Given the description of an element on the screen output the (x, y) to click on. 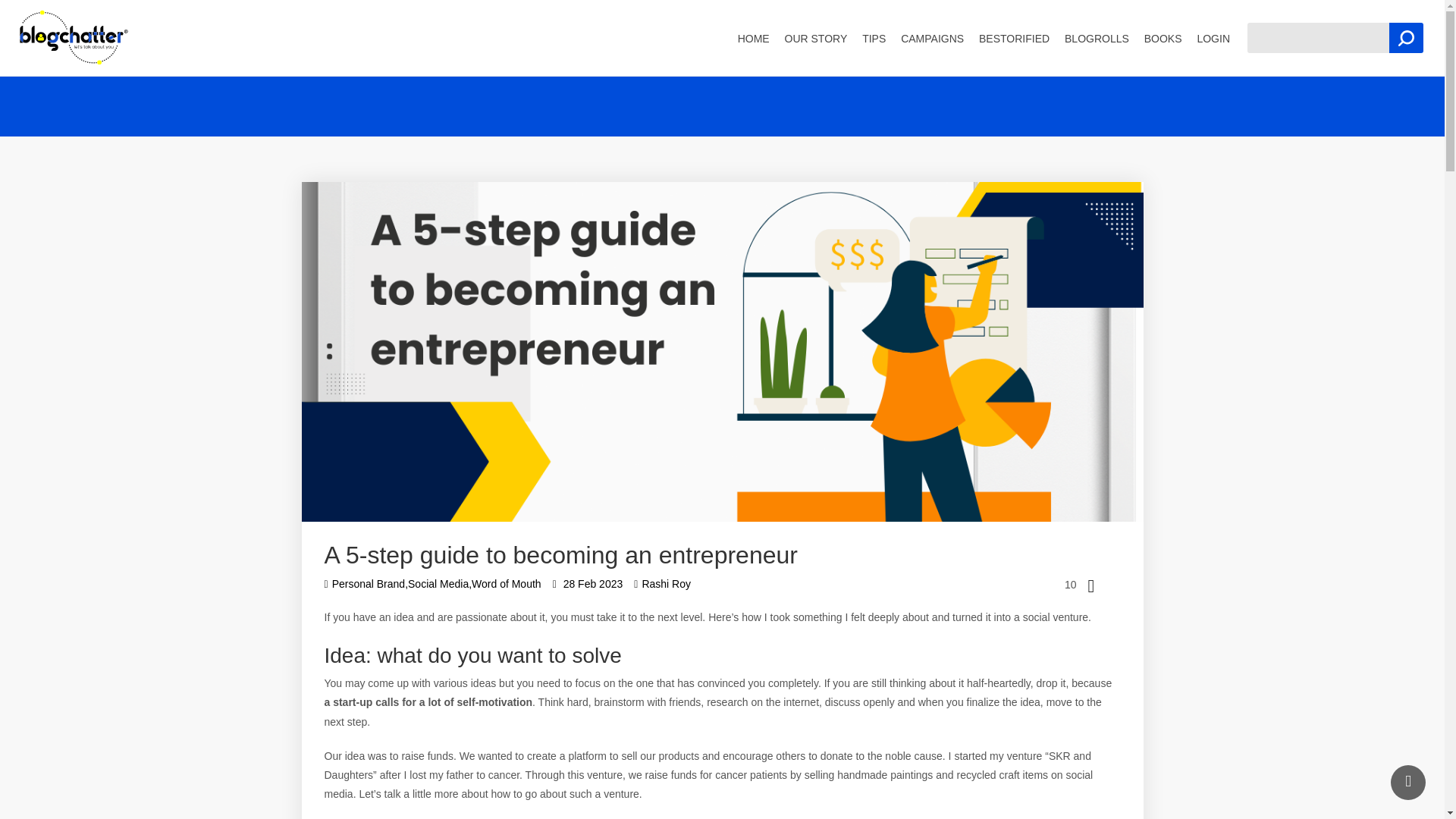
28 Feb 2023 (588, 583)
Rashi Roy (661, 583)
Like this post (1058, 583)
Theblogchatter (73, 37)
Search (1406, 37)
Personal Brand,Social Media,Word of Mouth (432, 583)
